Given the description of an element on the screen output the (x, y) to click on. 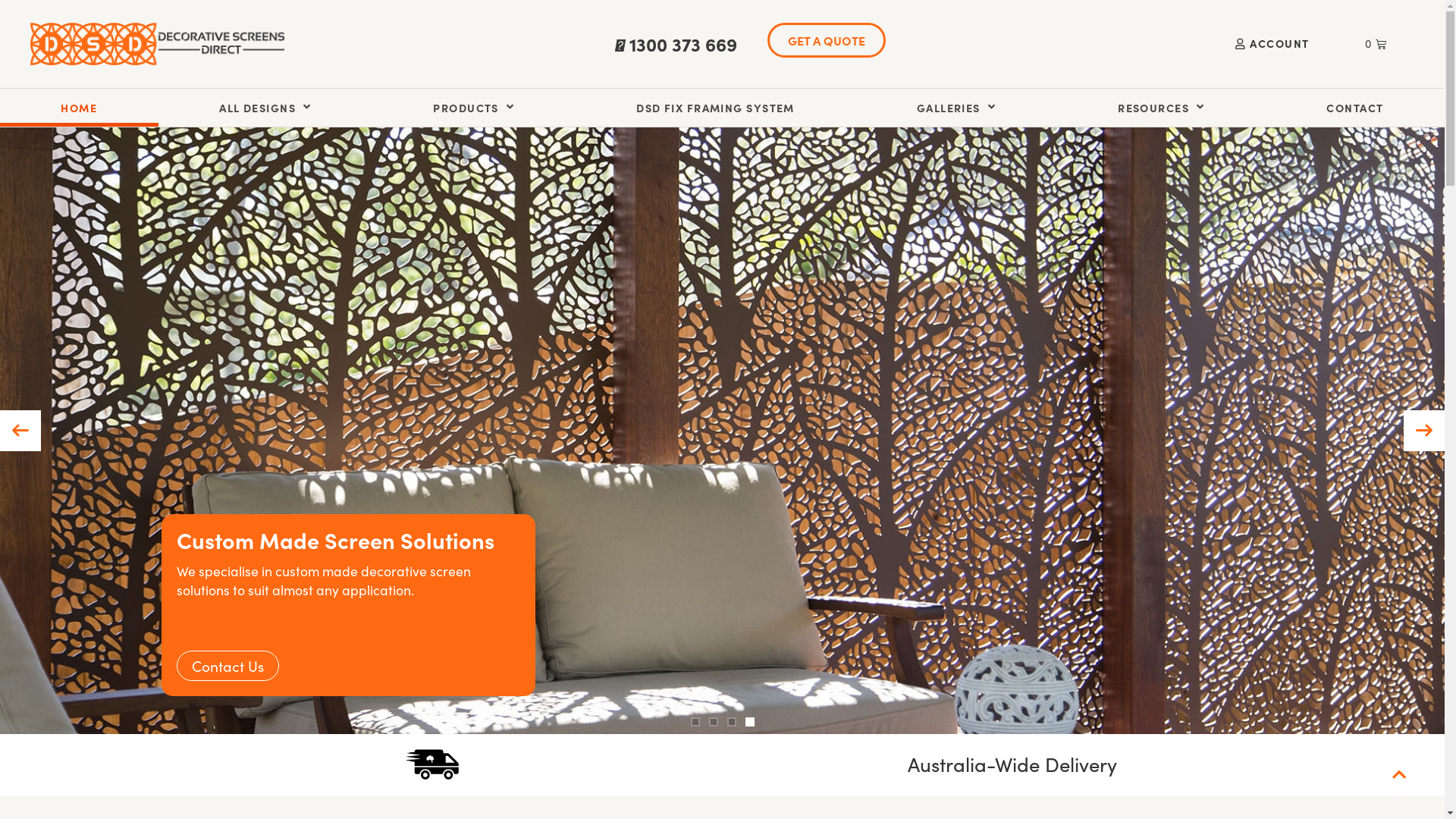
ALL DESIGNS Element type: text (265, 106)
HOME Element type: text (79, 106)
1300 373 669 Element type: text (683, 43)
GET A QUOTE Element type: text (826, 39)
ACCOUNT Element type: text (1272, 43)
Decorative Screens Direct Element type: hover (157, 43)
RESOURCES Element type: text (1161, 106)
DSD FIX FRAMING SYSTEM Element type: text (715, 106)
PRODUCTS Element type: text (473, 106)
0 Element type: text (1375, 43)
GALLERIES Element type: text (955, 106)
CONTACT Element type: text (1354, 106)
